Given the description of an element on the screen output the (x, y) to click on. 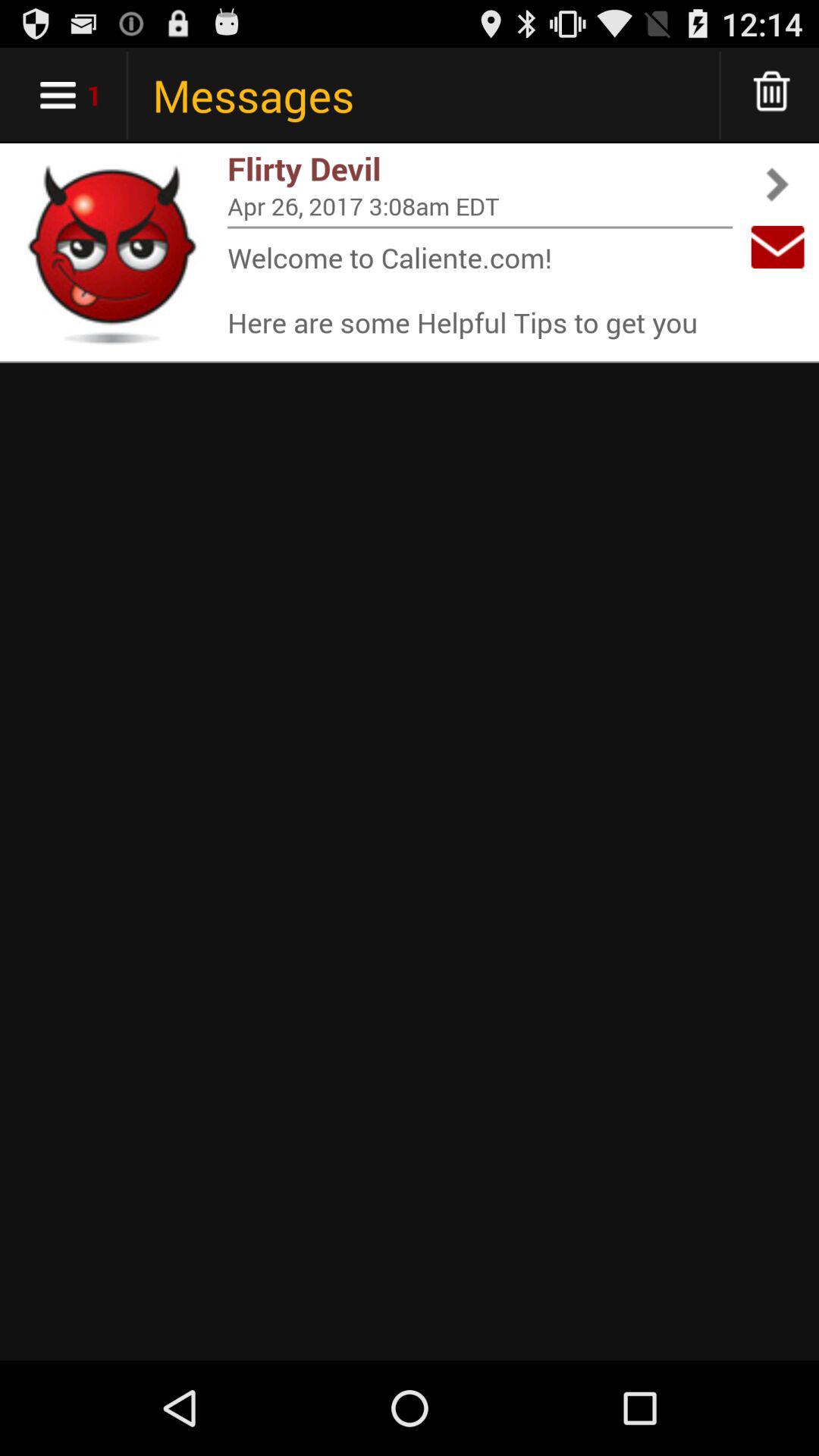
jump to the welcome to caliente icon (479, 289)
